Given the description of an element on the screen output the (x, y) to click on. 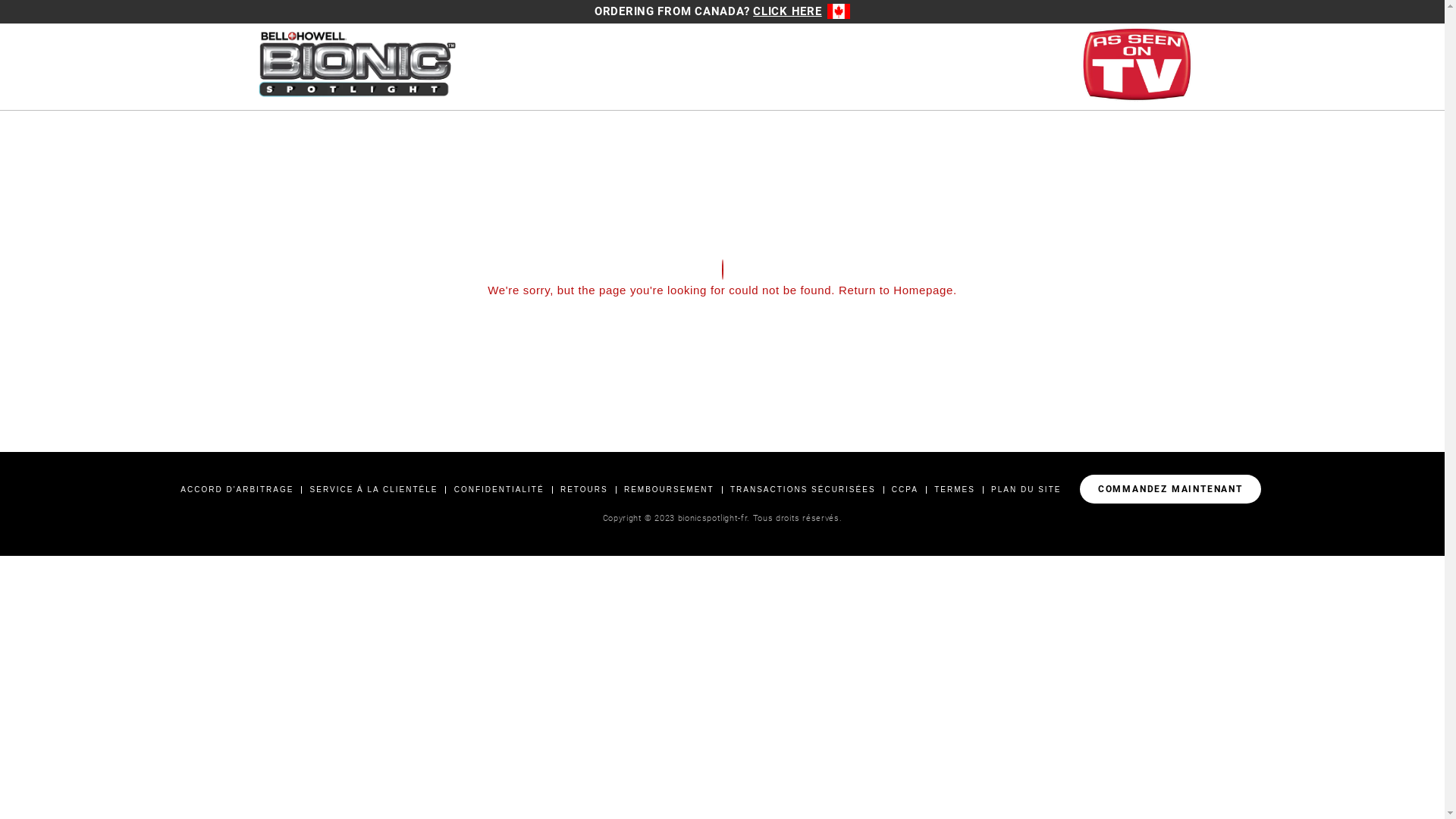
PLAN DU SITE Element type: text (1025, 489)
COMMANDEZ MAINTENANT Element type: text (1170, 488)
Return to Homepage Element type: text (895, 289)
ORDERING FROM CANADA? CLICK HERE Element type: text (722, 11)
REMBOURSEMENT Element type: text (669, 489)
ACCORD D'ARBITRAGE Element type: text (236, 489)
RETOURS Element type: text (584, 489)
CCPA Element type: text (904, 489)
TERMES Element type: text (954, 489)
